Given the description of an element on the screen output the (x, y) to click on. 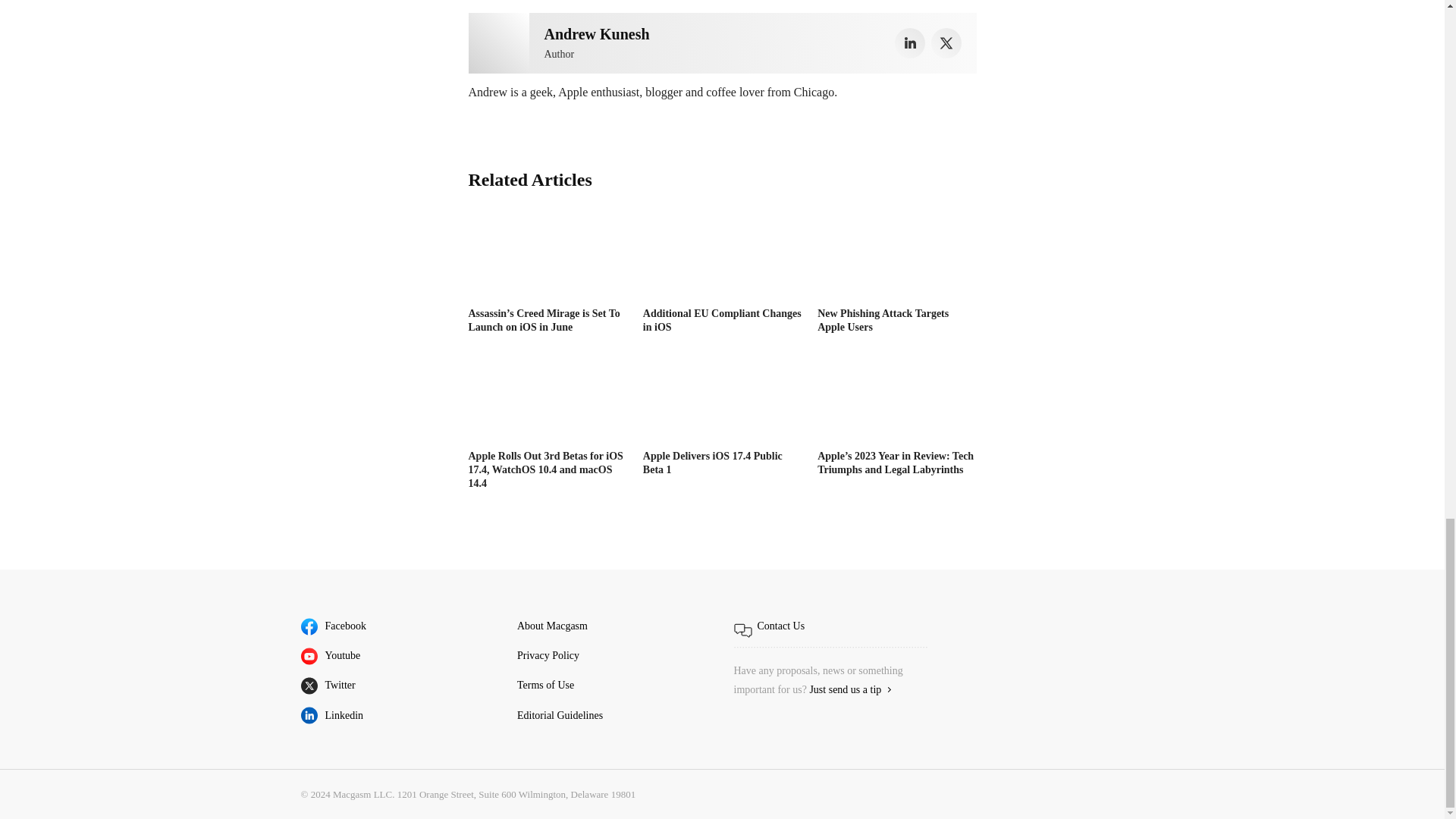
Andrew Kunesh (596, 33)
Andrew Kunesh (498, 43)
Additional EU Compliant Changes in iOS (722, 257)
Twitter (945, 42)
Linkedin (909, 42)
